Given the description of an element on the screen output the (x, y) to click on. 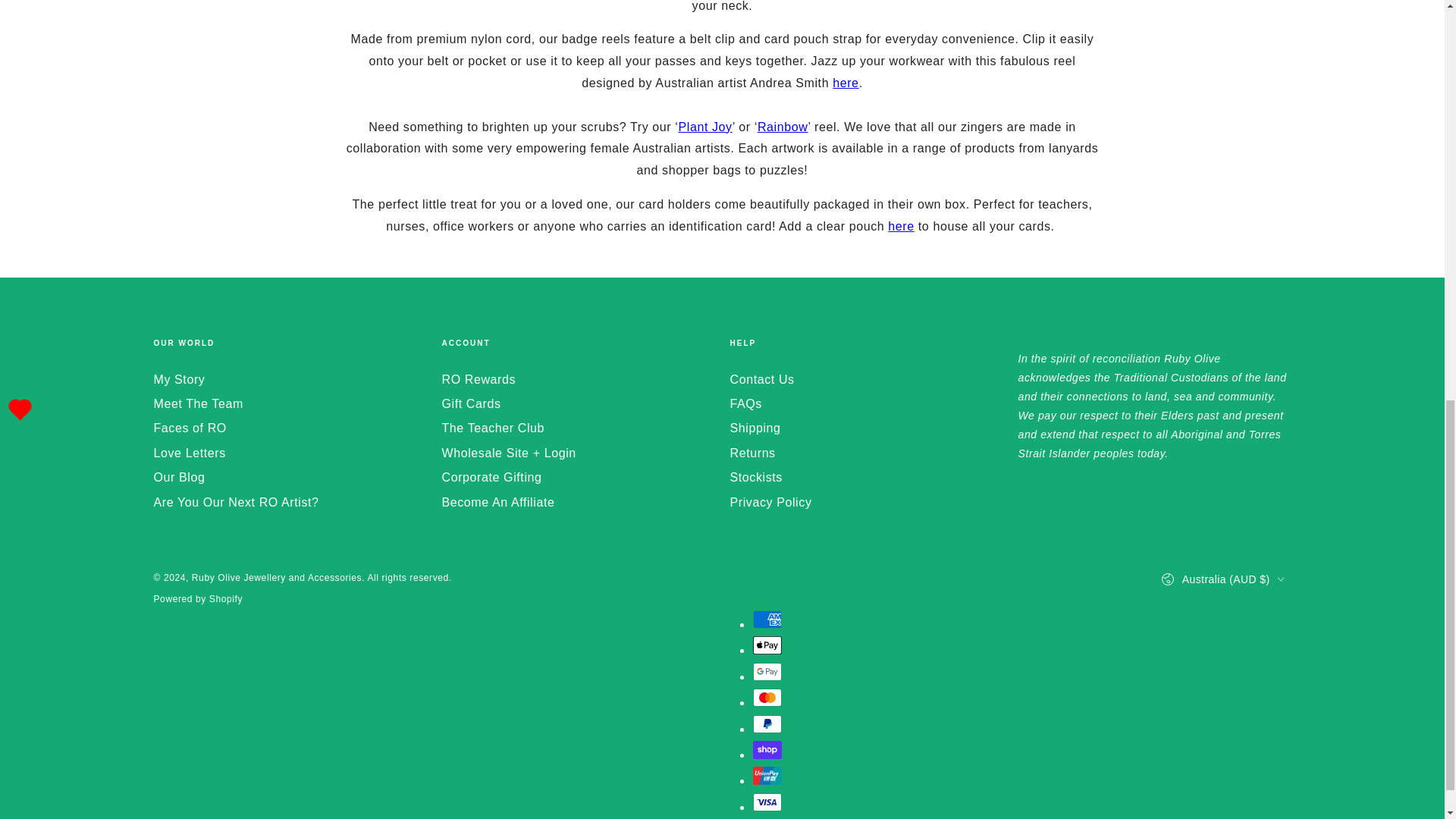
Shop Pay (766, 750)
PayPal (766, 723)
Apple Pay (766, 645)
Google Pay (766, 671)
Union Pay (766, 775)
Mastercard (766, 697)
American Express (766, 619)
